Given the description of an element on the screen output the (x, y) to click on. 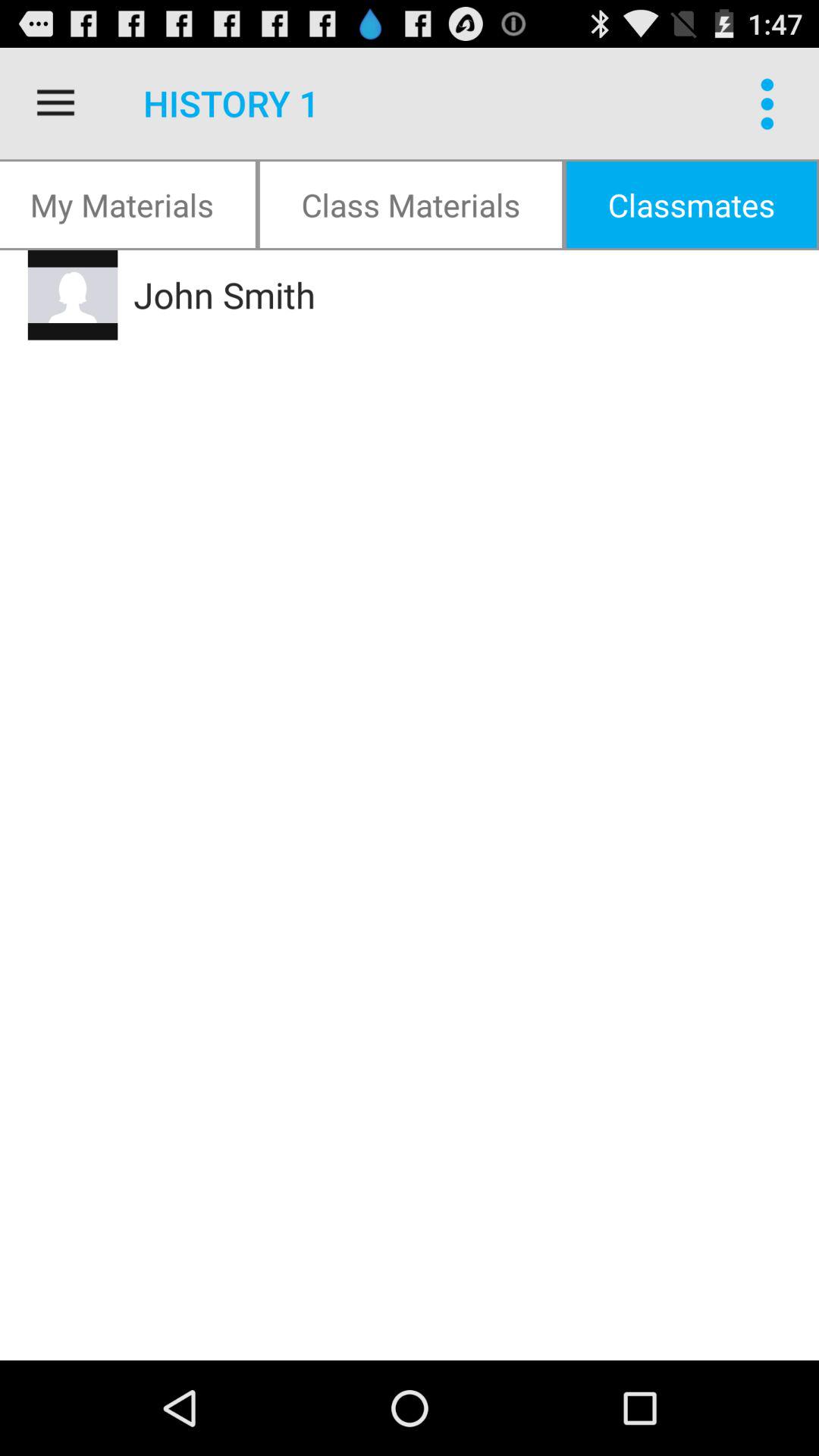
turn on the icon below the my materials icon (427, 295)
